Given the description of an element on the screen output the (x, y) to click on. 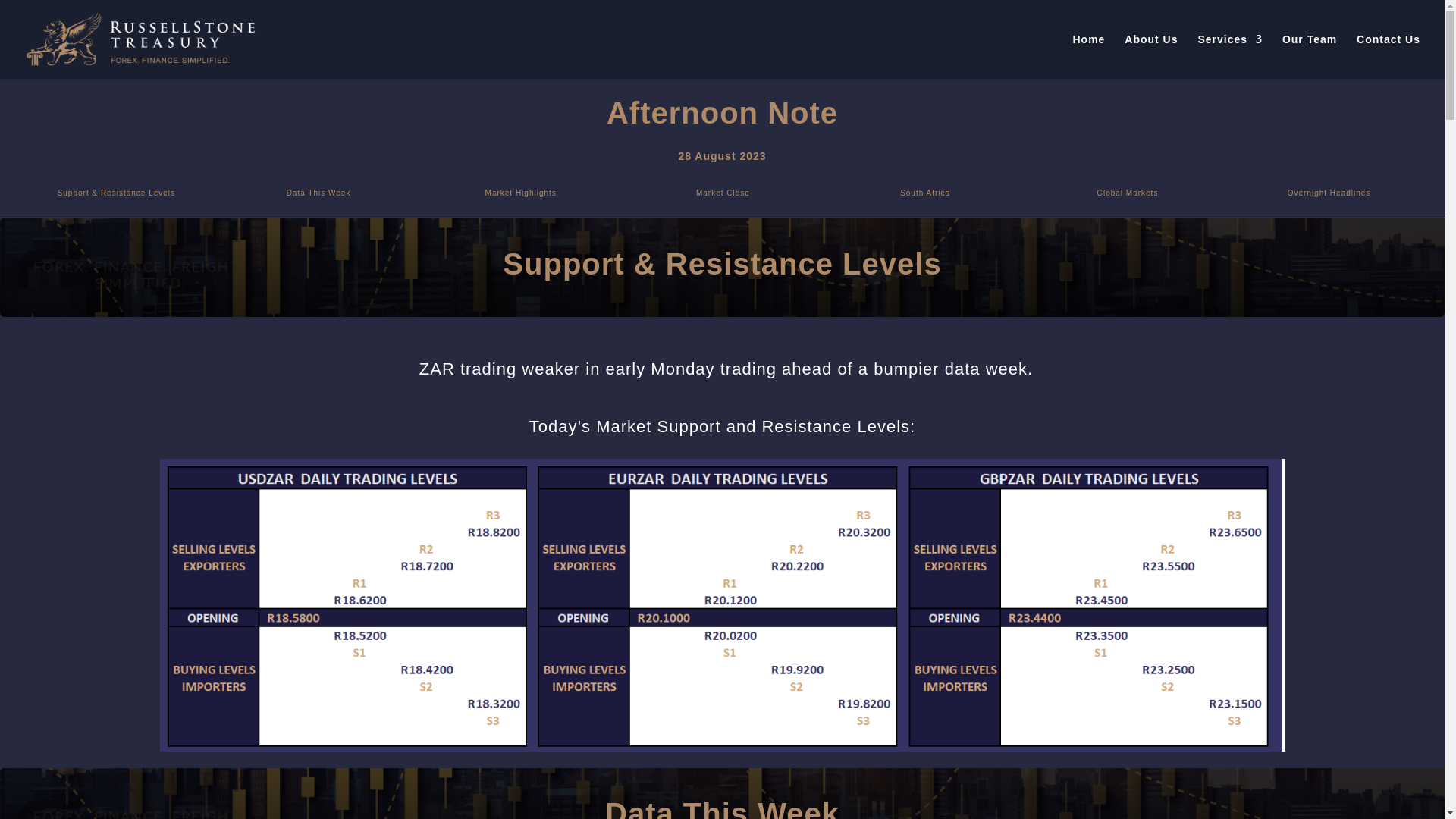
Contact Us (1388, 56)
Services (1229, 56)
Our Team (1309, 56)
About Us (1150, 56)
